Given the description of an element on the screen output the (x, y) to click on. 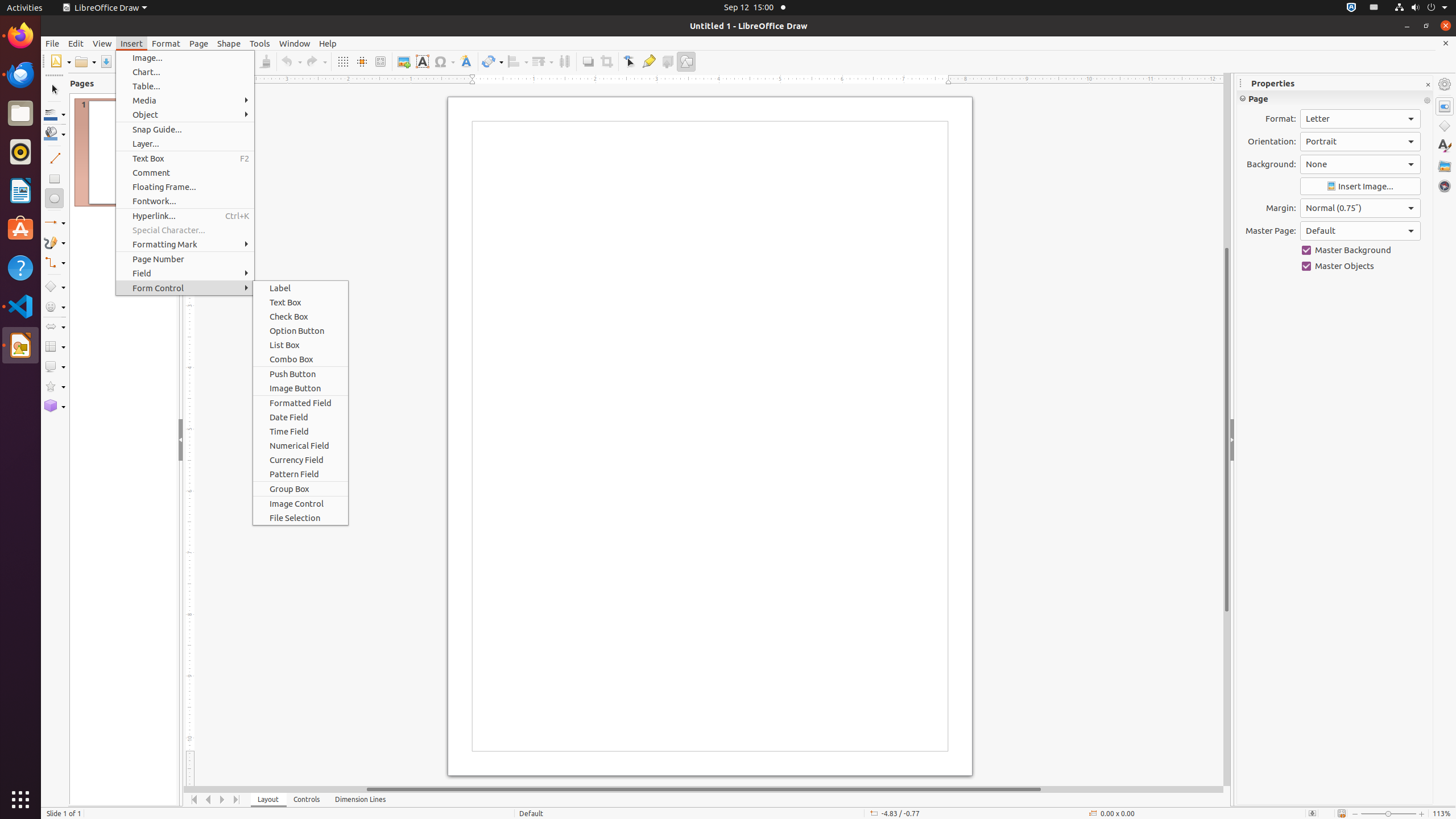
Rhythmbox Element type: push-button (20, 151)
Page Element type: menu (198, 43)
Styles Element type: radio-button (1444, 146)
Format Element type: menu (165, 43)
Navigator Element type: radio-button (1444, 185)
